Given the description of an element on the screen output the (x, y) to click on. 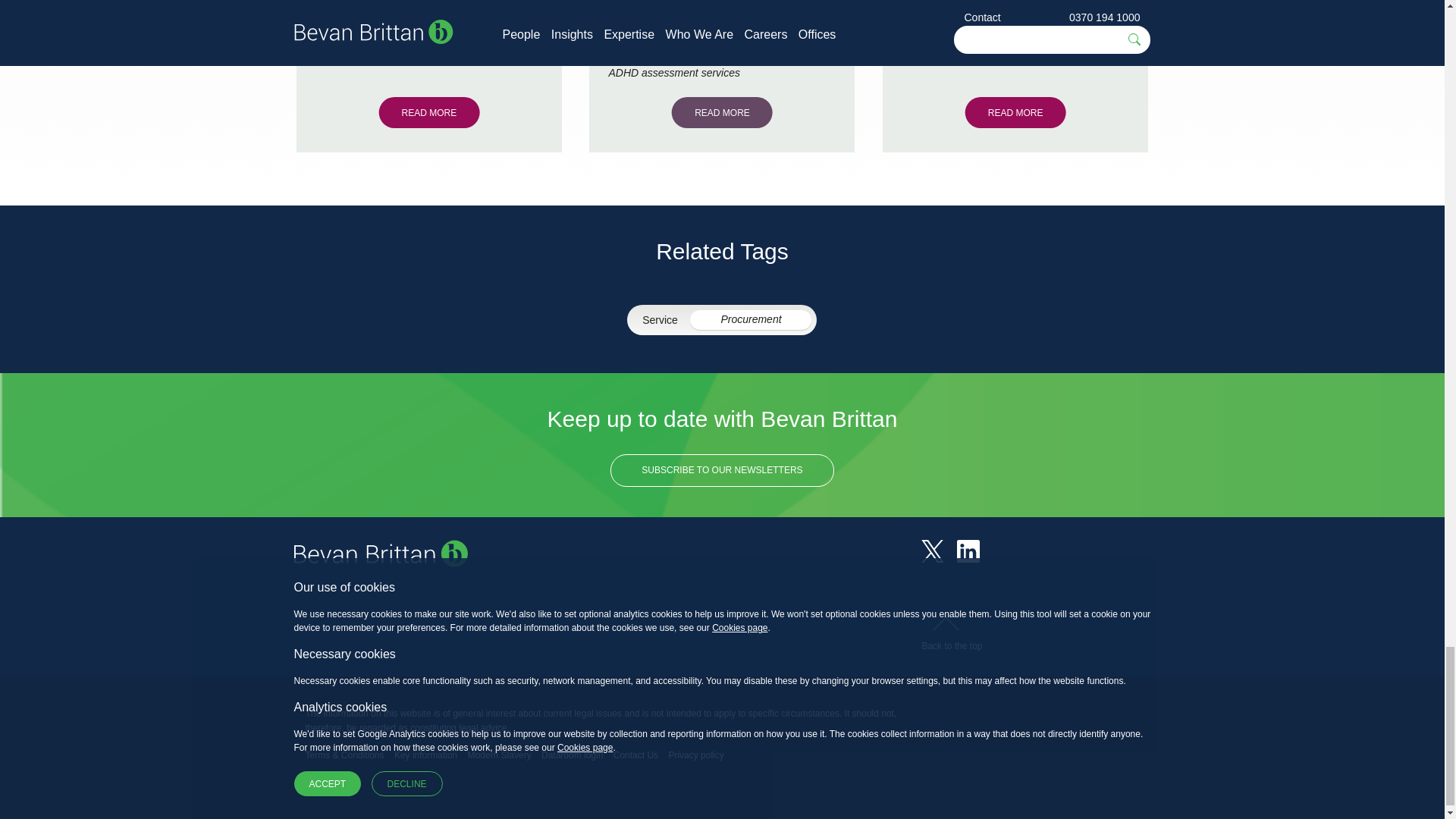
READ MORE (428, 112)
Procurement (750, 319)
Back to the top (951, 636)
READ MORE (722, 112)
